Given the description of an element on the screen output the (x, y) to click on. 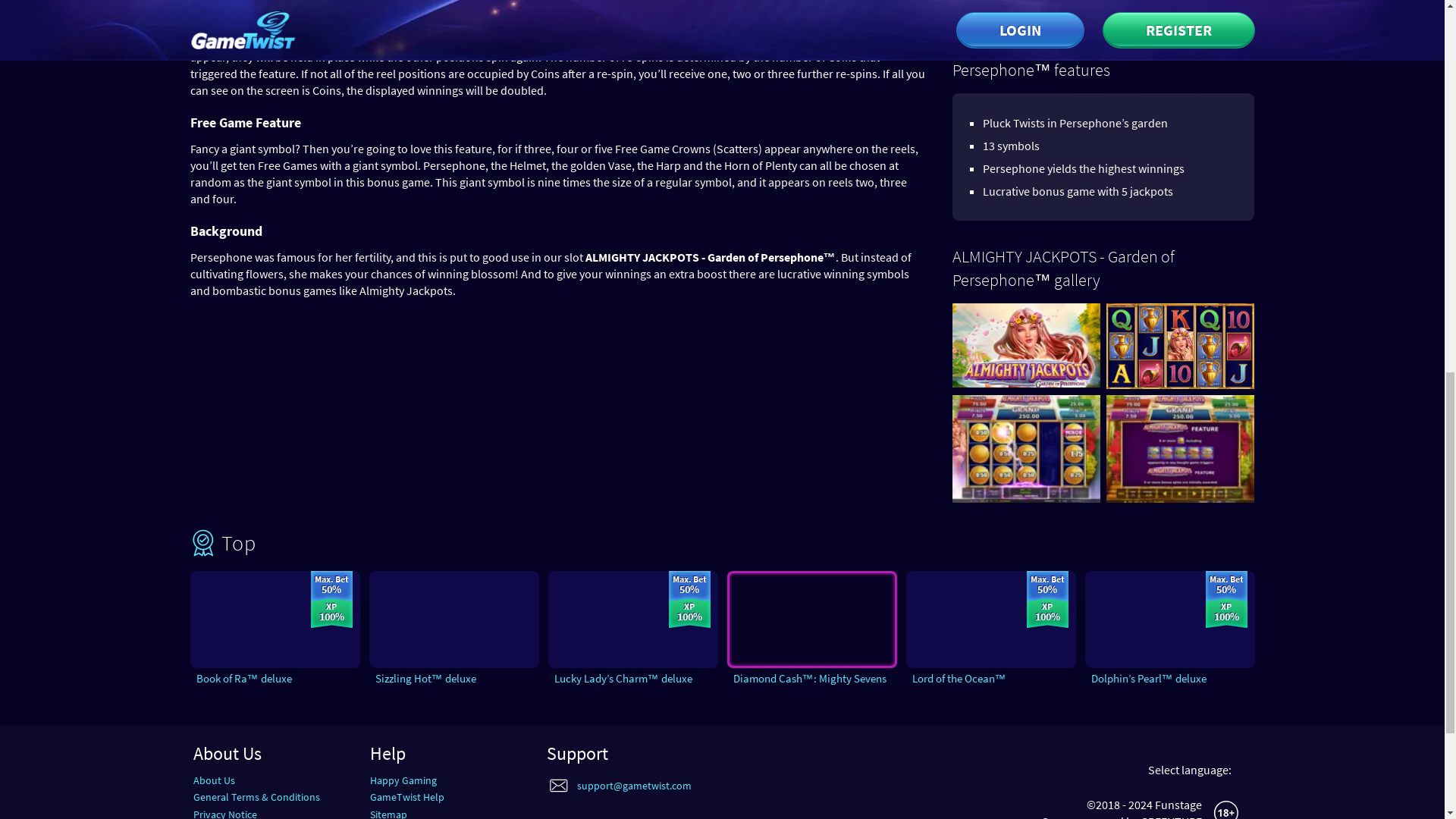
About Us (213, 780)
Happy Gaming (402, 780)
Sitemap (388, 813)
GameTwist Help (406, 797)
Privacy Notice (224, 813)
